Given the description of an element on the screen output the (x, y) to click on. 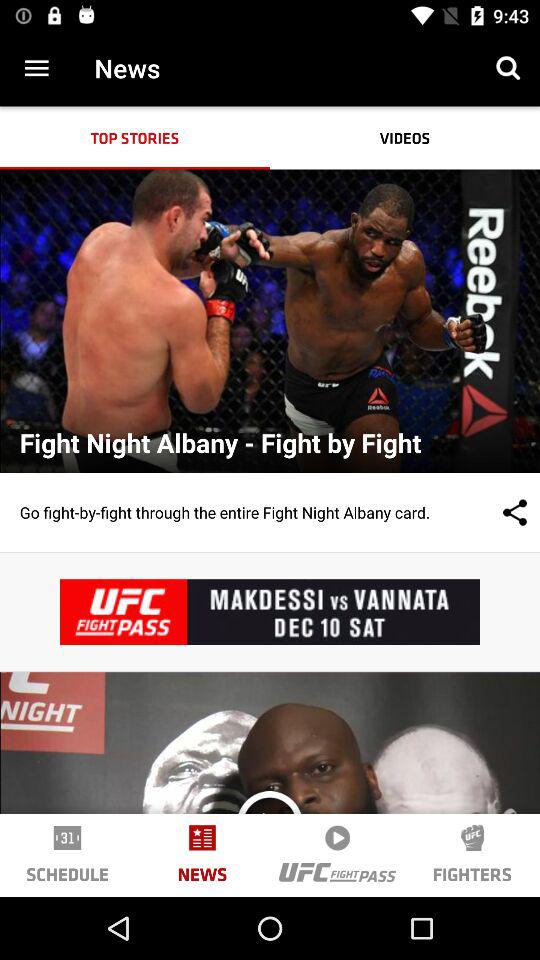
choose icon next to news icon (508, 67)
